Given the description of an element on the screen output the (x, y) to click on. 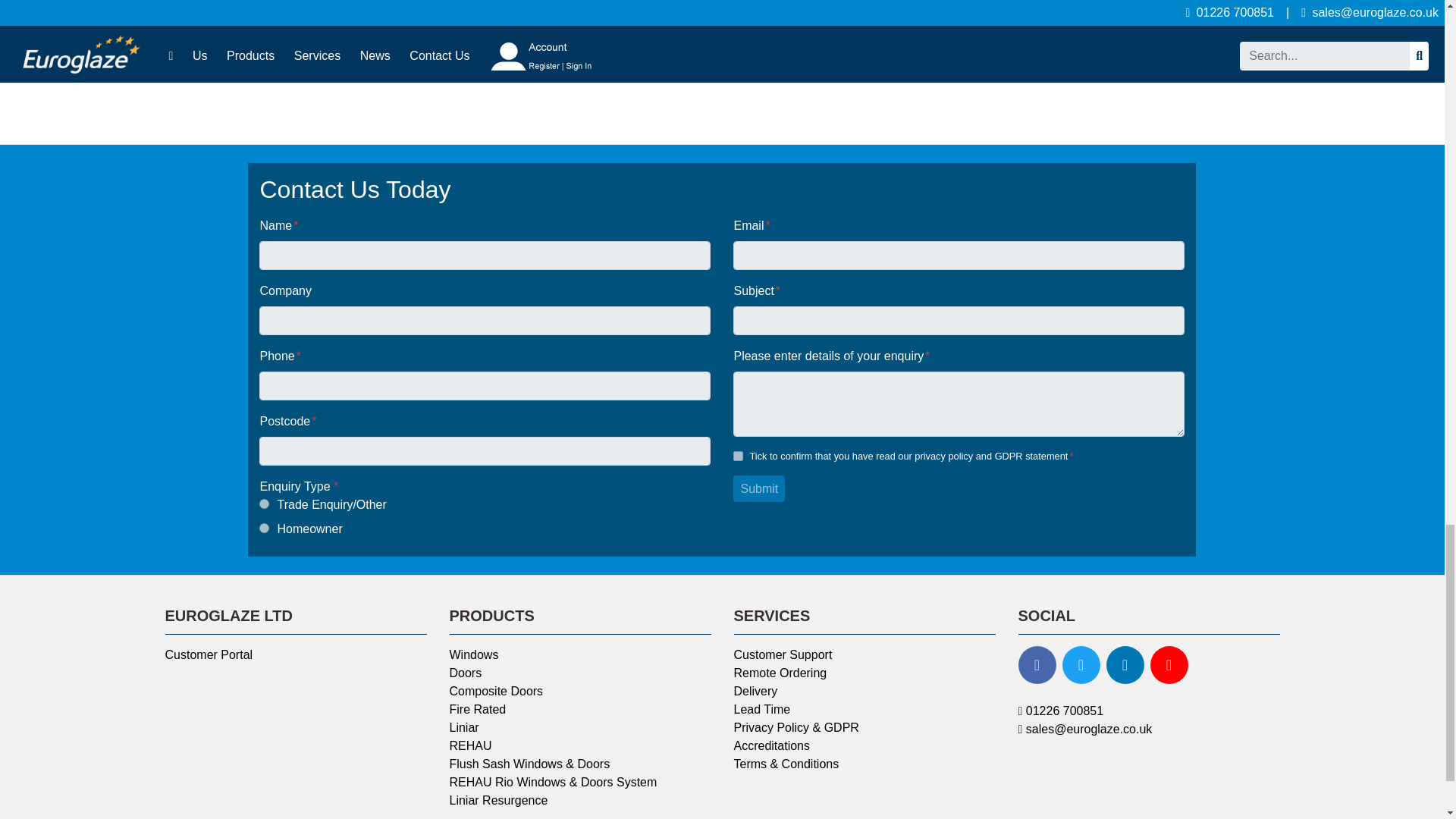
privacy policy and GDPR statement (990, 455)
Composite Doors (495, 690)
Homeowner (264, 528)
Windows (472, 654)
1 (737, 456)
Submit (758, 488)
GDPR Privacy Policy (990, 455)
REHAU (470, 745)
Liniar (463, 727)
Tel: 01226 700851 (1060, 710)
